Given the description of an element on the screen output the (x, y) to click on. 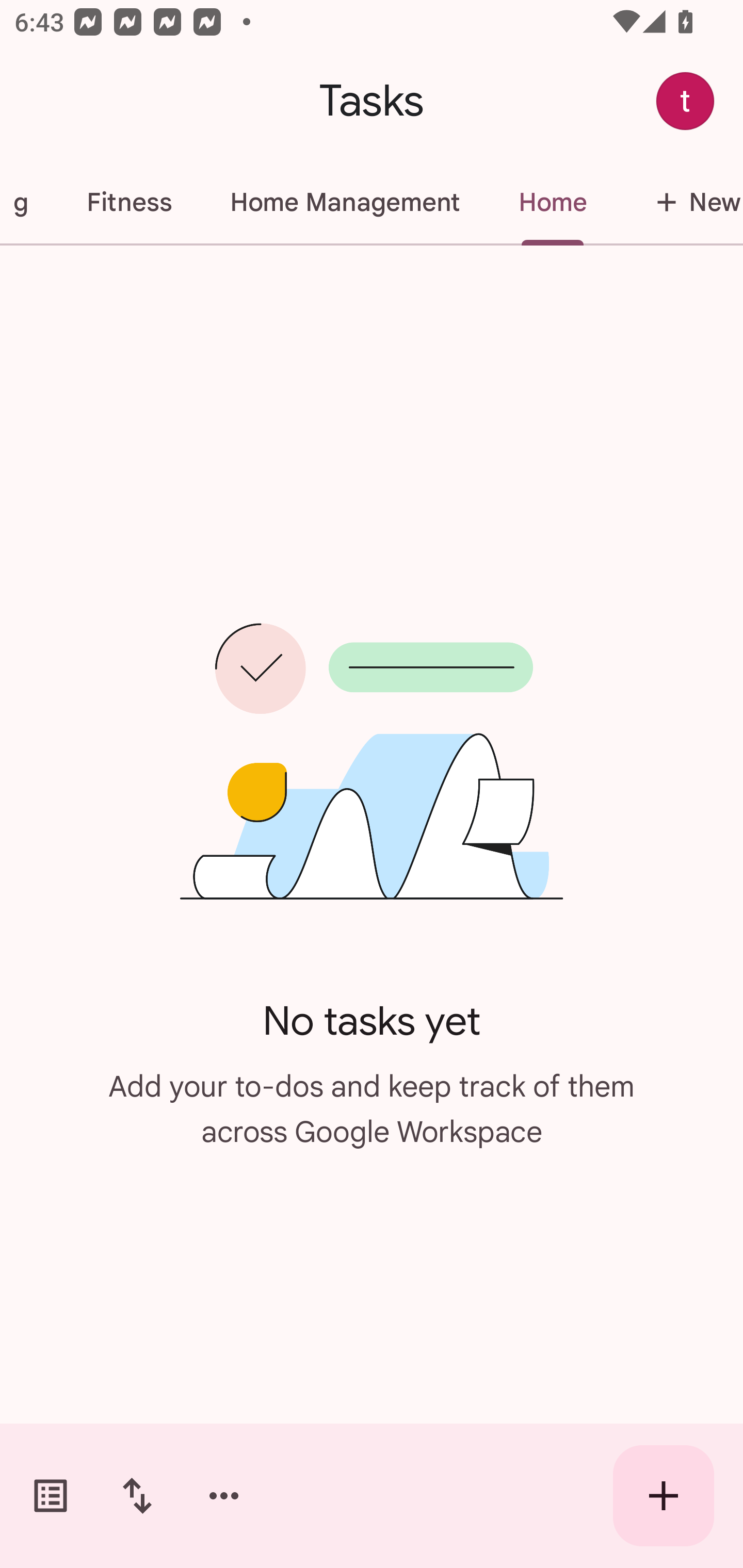
Fitness (128, 202)
Home Management (344, 202)
New list (679, 202)
Switch task lists (50, 1495)
Create new task (663, 1495)
Change sort order (136, 1495)
More options (223, 1495)
